Given the description of an element on the screen output the (x, y) to click on. 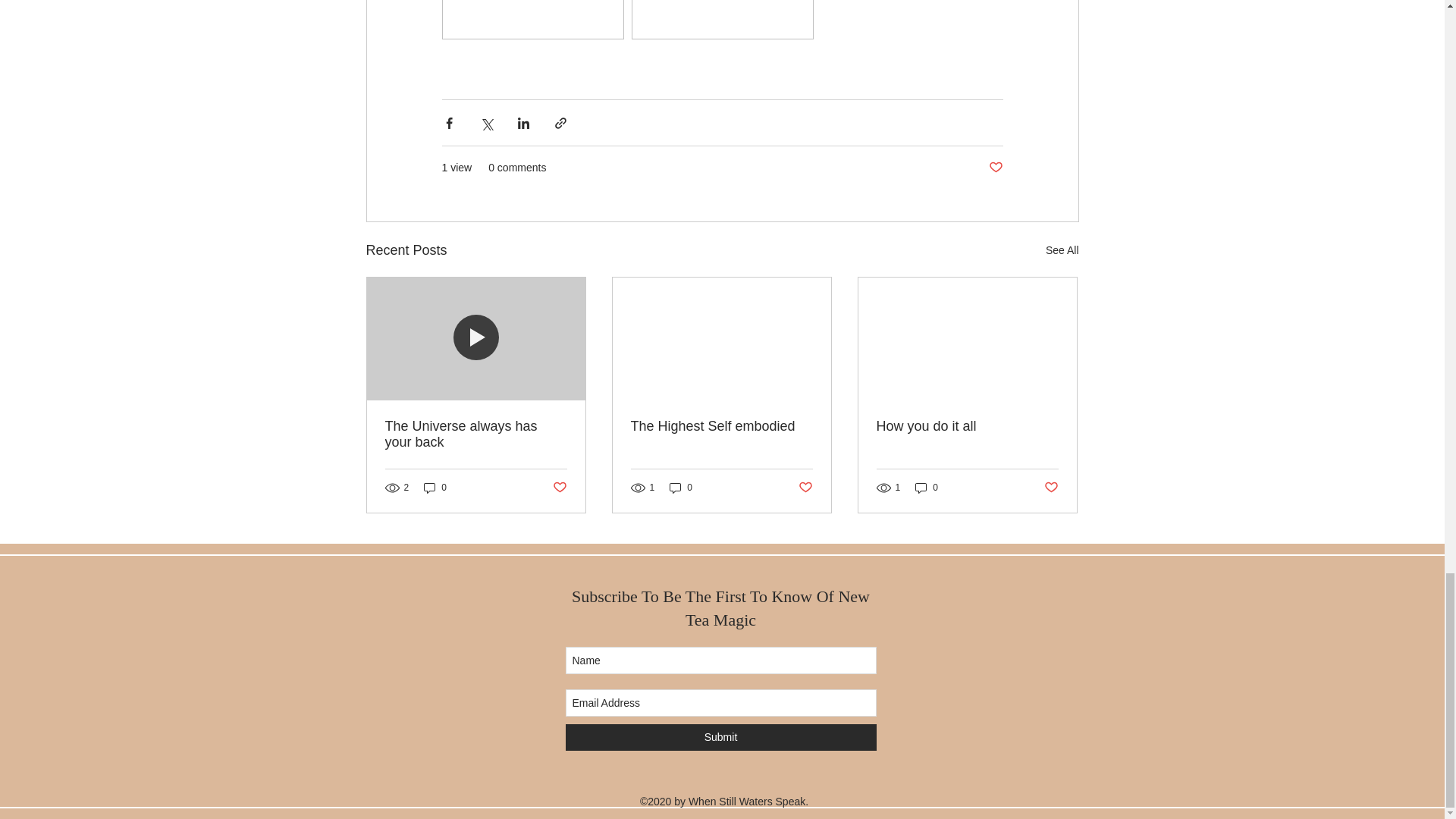
The Universe always has your back (476, 434)
Post not marked as liked (558, 487)
Post not marked as liked (1050, 487)
Post not marked as liked (804, 487)
0 (681, 487)
See All (1061, 250)
Submit (721, 737)
0 (435, 487)
How you do it all (967, 426)
The Highest Self embodied (721, 426)
Post not marked as liked (995, 167)
0 (926, 487)
